Given the description of an element on the screen output the (x, y) to click on. 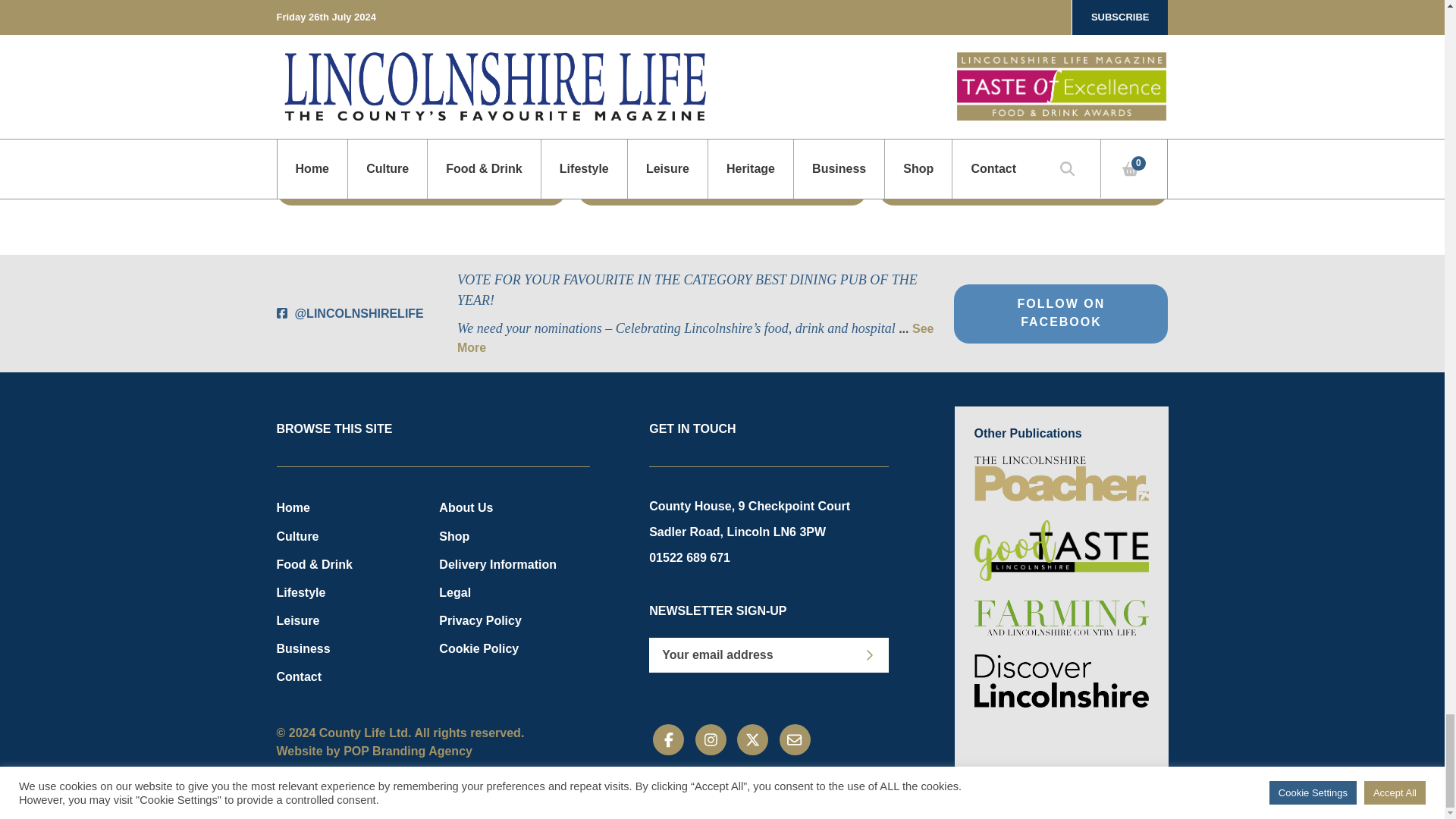
Facebook (668, 739)
Email (794, 739)
Twitter (752, 739)
POP Branding Agency (407, 750)
Instagram (710, 739)
